Given the description of an element on the screen output the (x, y) to click on. 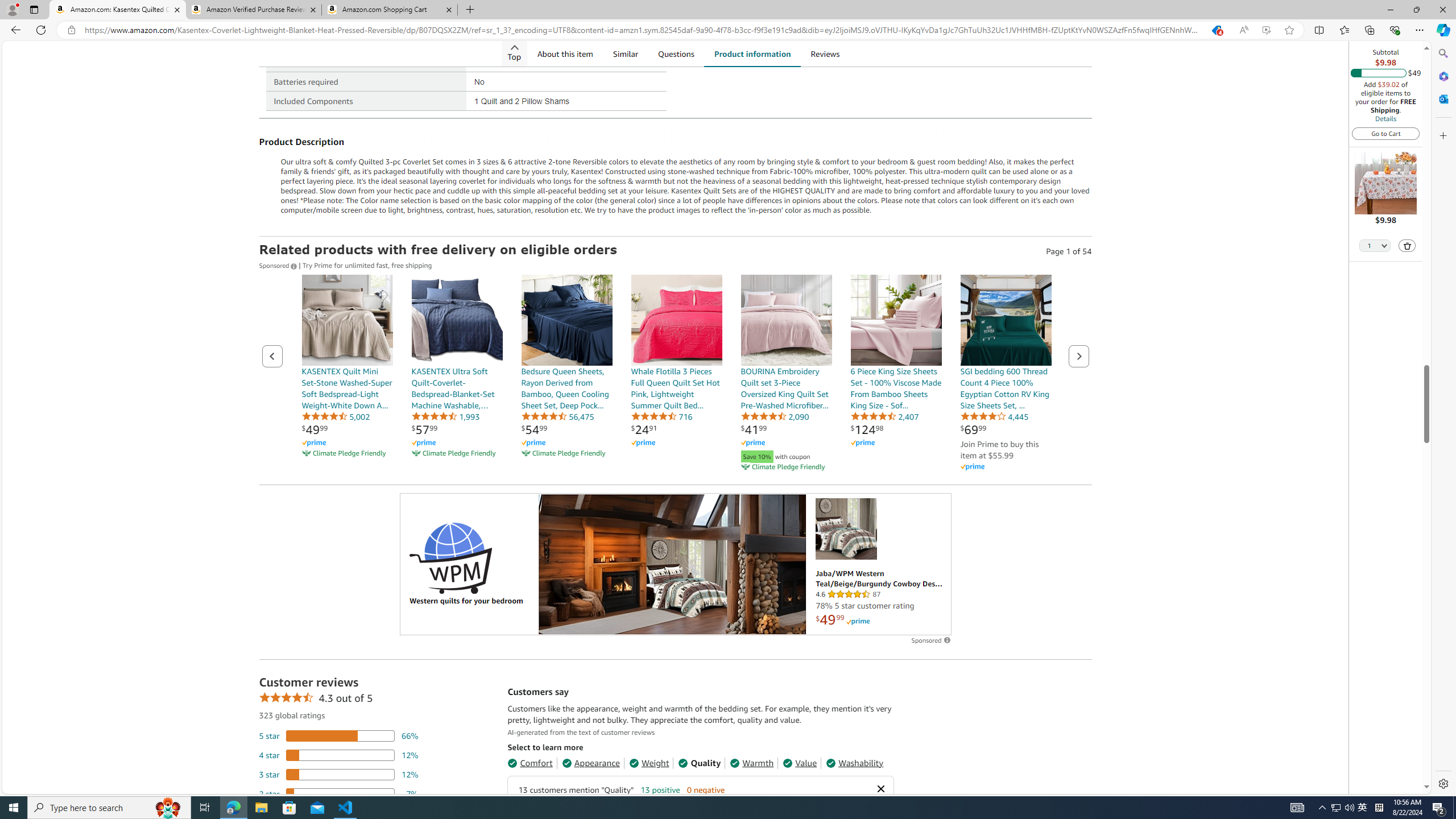
2,407$124.98 (896, 373)
Amazon.com Shopping Cart (390, 9)
2,407 (884, 416)
$24.91 (644, 429)
$57.99 (424, 429)
Washability (854, 762)
Comfort (529, 762)
Warmth (751, 762)
716 (661, 416)
